Given the description of an element on the screen output the (x, y) to click on. 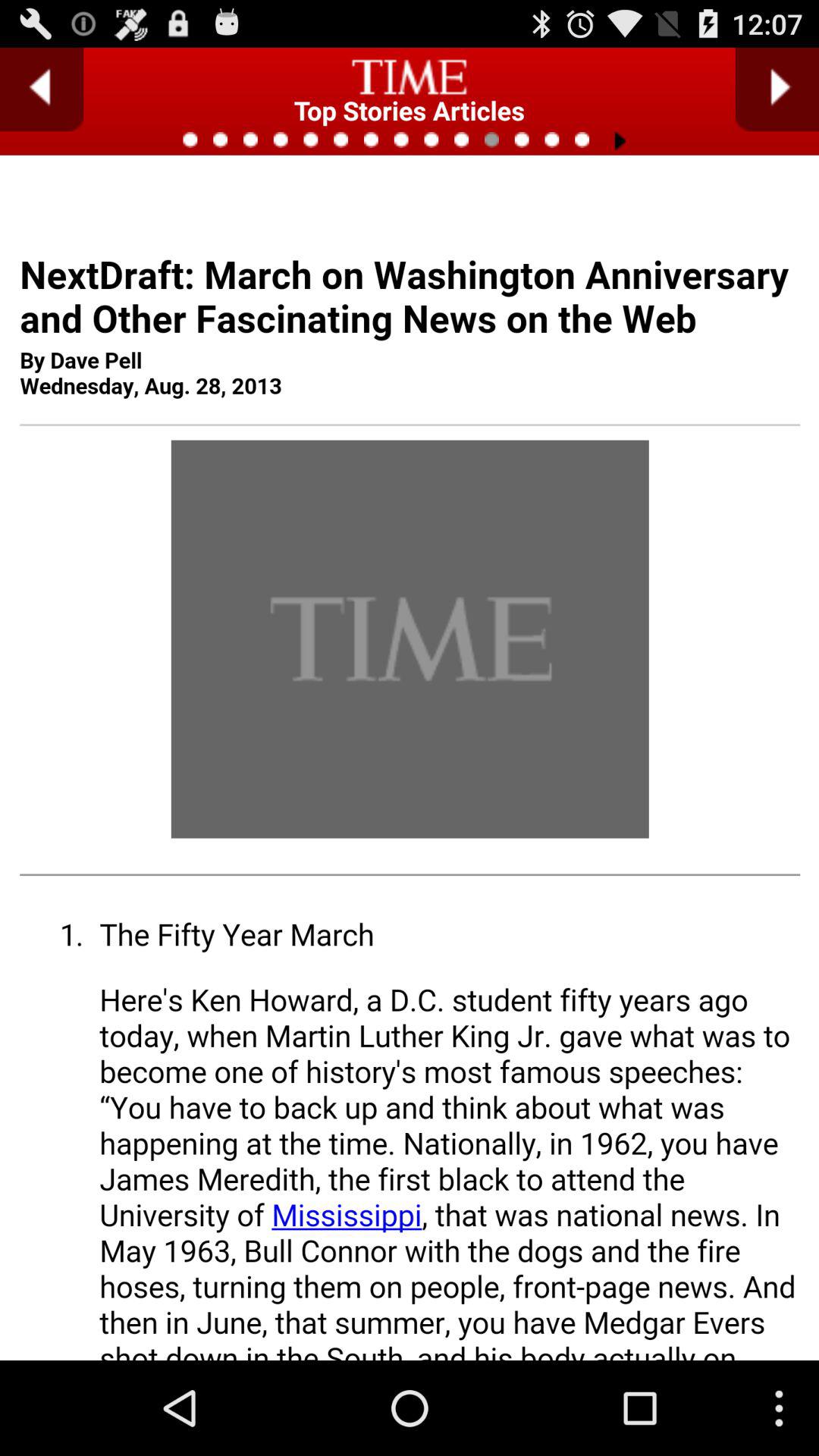
open the icon at the center (409, 807)
